Given the description of an element on the screen output the (x, y) to click on. 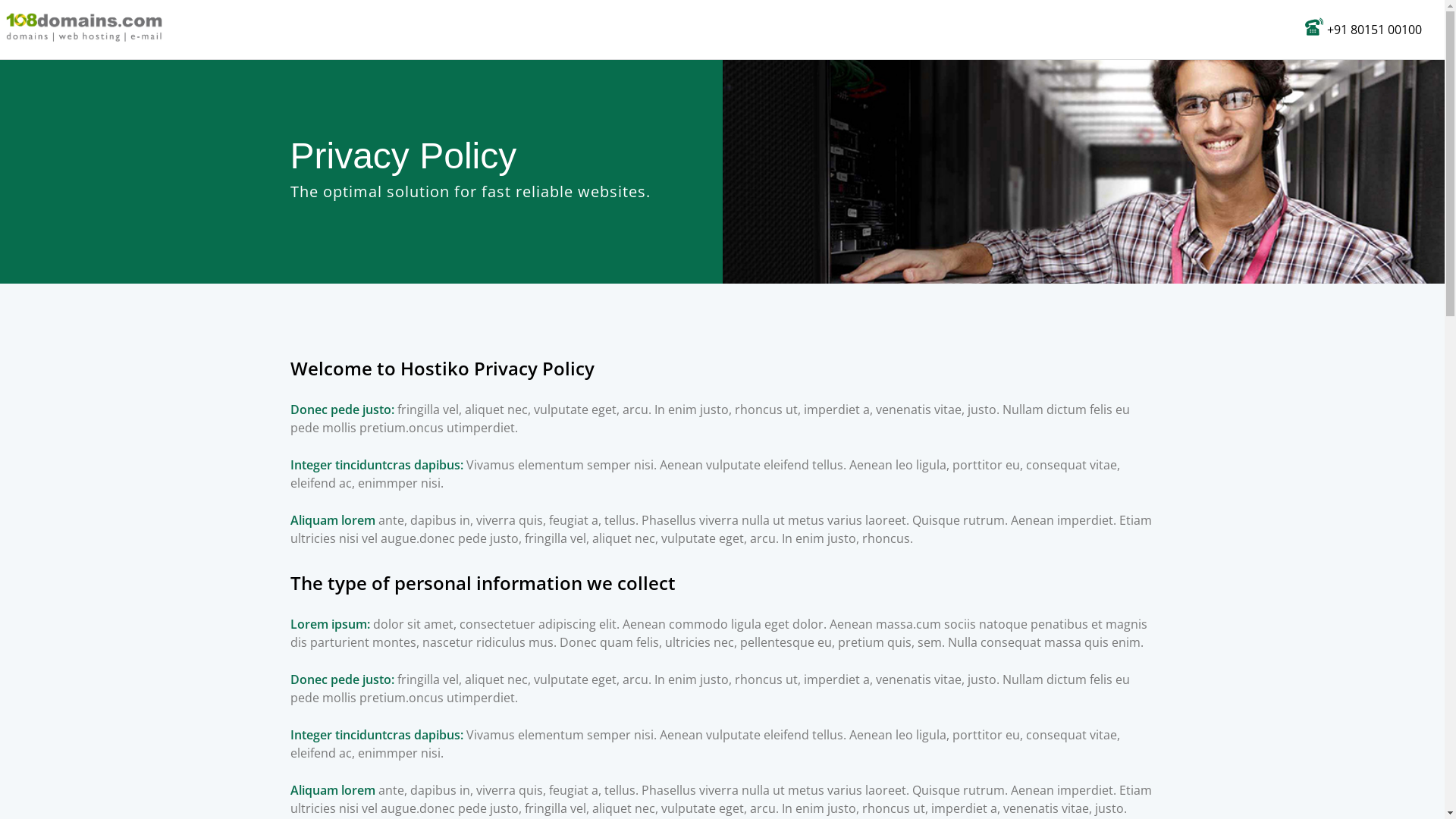
greenphoneicon Element type: hover (1314, 26)
